Given the description of an element on the screen output the (x, y) to click on. 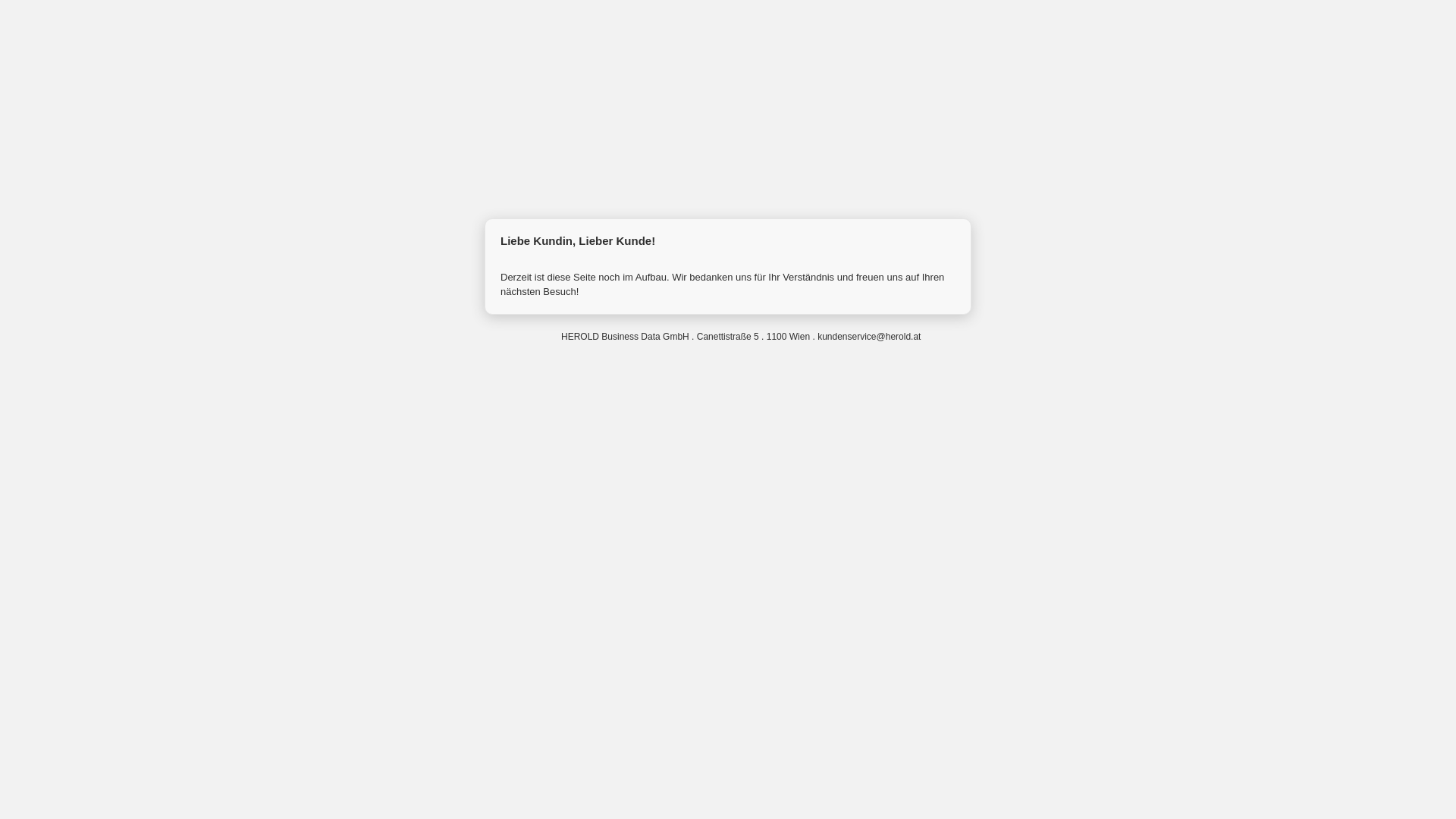
kundenservice@herold.at Element type: text (868, 336)
HEROLD Business Data GmbH Element type: text (526, 335)
